Given the description of an element on the screen output the (x, y) to click on. 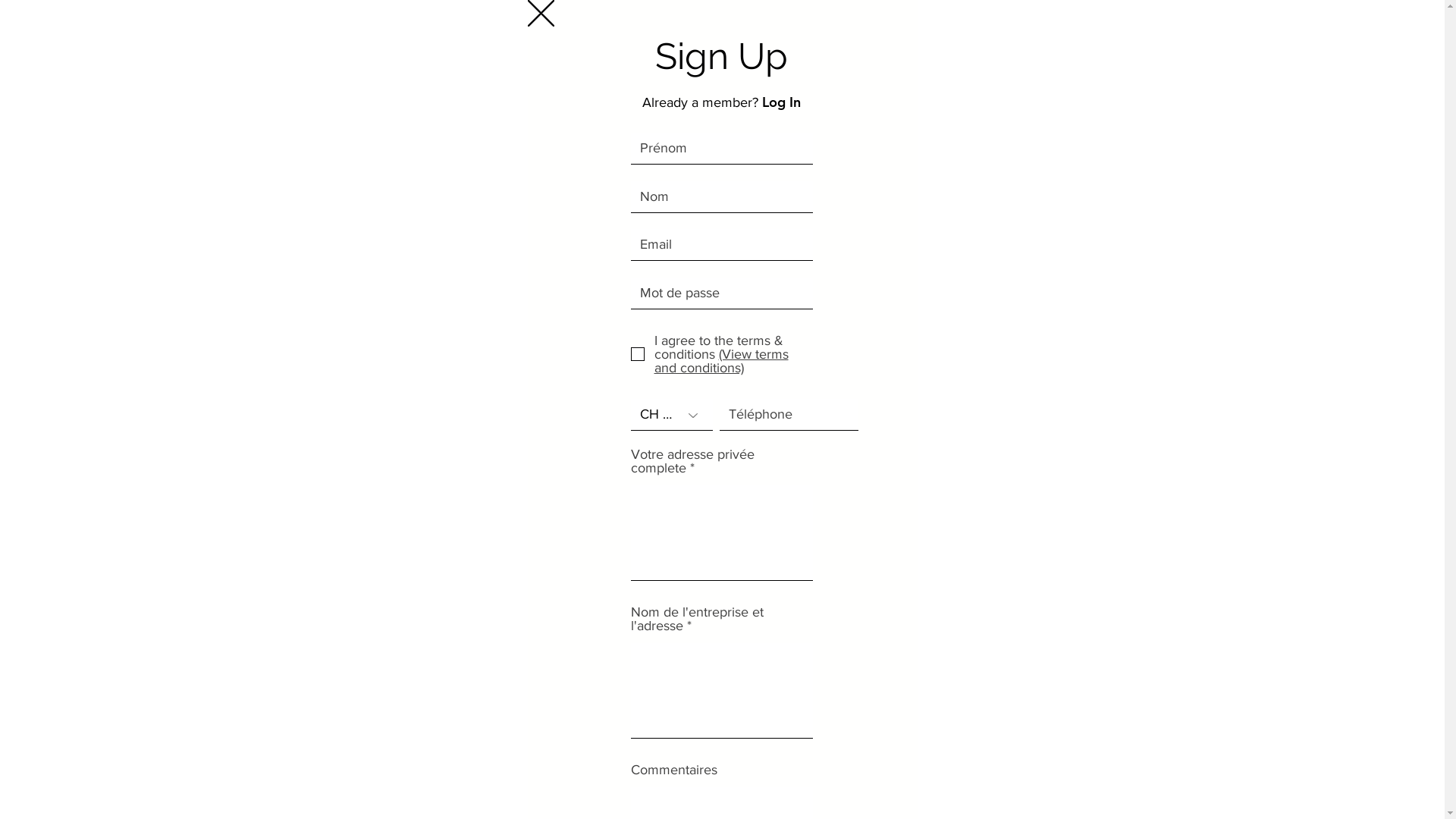
(View terms and conditions) Element type: text (720, 360)
Retour au site Element type: hover (540, 13)
